Given the description of an element on the screen output the (x, y) to click on. 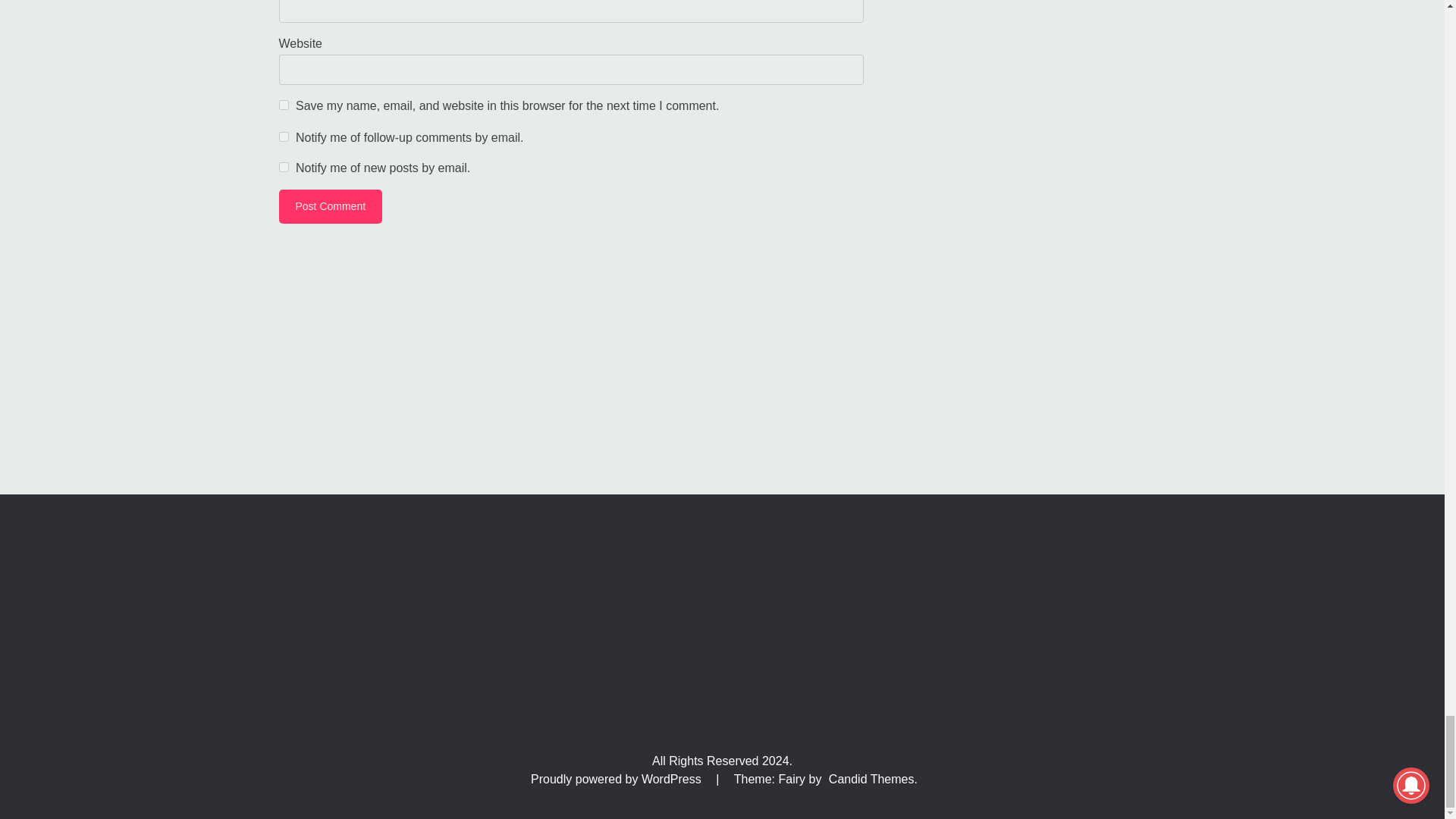
subscribe (283, 136)
Post Comment (330, 206)
yes (283, 104)
subscribe (283, 166)
